Given the description of an element on the screen output the (x, y) to click on. 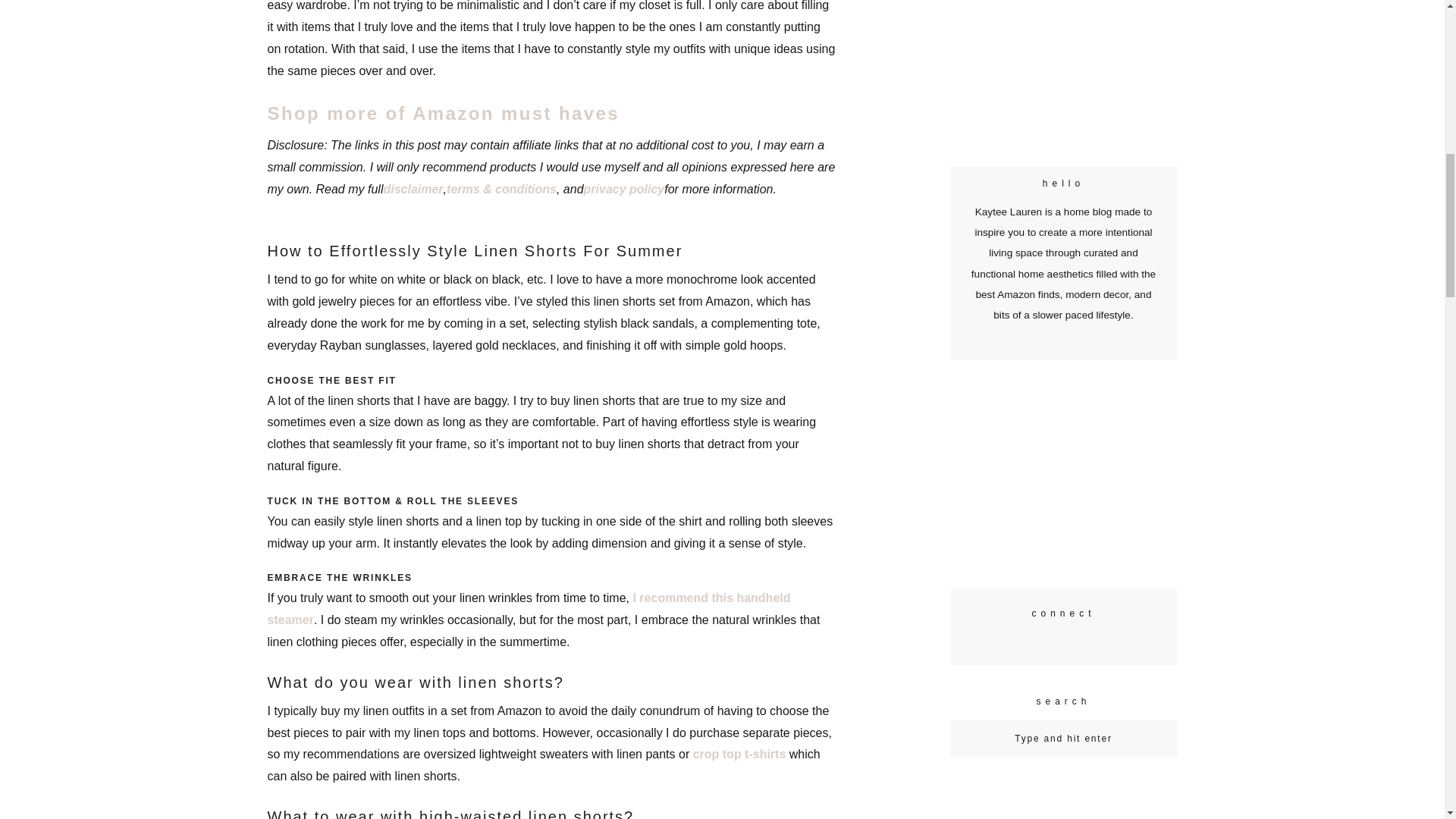
I recommend this handheld steamer (528, 608)
Type and hit enter (1063, 738)
Type and hit enter (1063, 738)
crop top t-shirts (739, 753)
privacy policy (624, 188)
disclaimer (412, 188)
Shop more of Amazon must haves (443, 113)
